Given the description of an element on the screen output the (x, y) to click on. 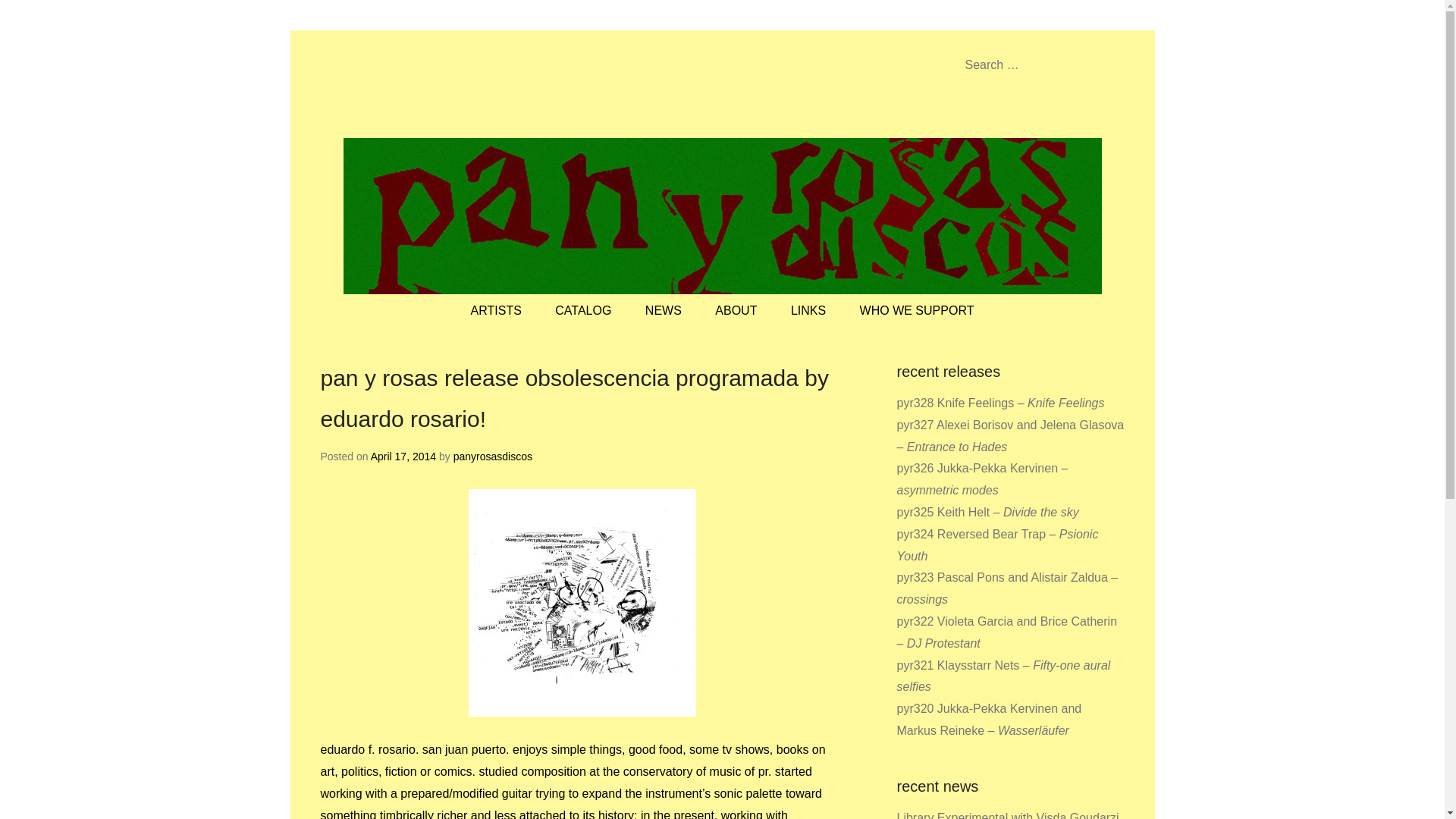
WHO WE SUPPORT (917, 310)
NEWS (663, 310)
April 17, 2014 (403, 456)
Search (32, 15)
pan y rosas discos (490, 87)
CATALOG (583, 310)
panyrosasdiscos (492, 456)
6:30 pm (403, 456)
ARTISTS (496, 310)
View all posts by panyrosasdiscos (492, 456)
ABOUT (735, 310)
LINKS (808, 310)
